Given the description of an element on the screen output the (x, y) to click on. 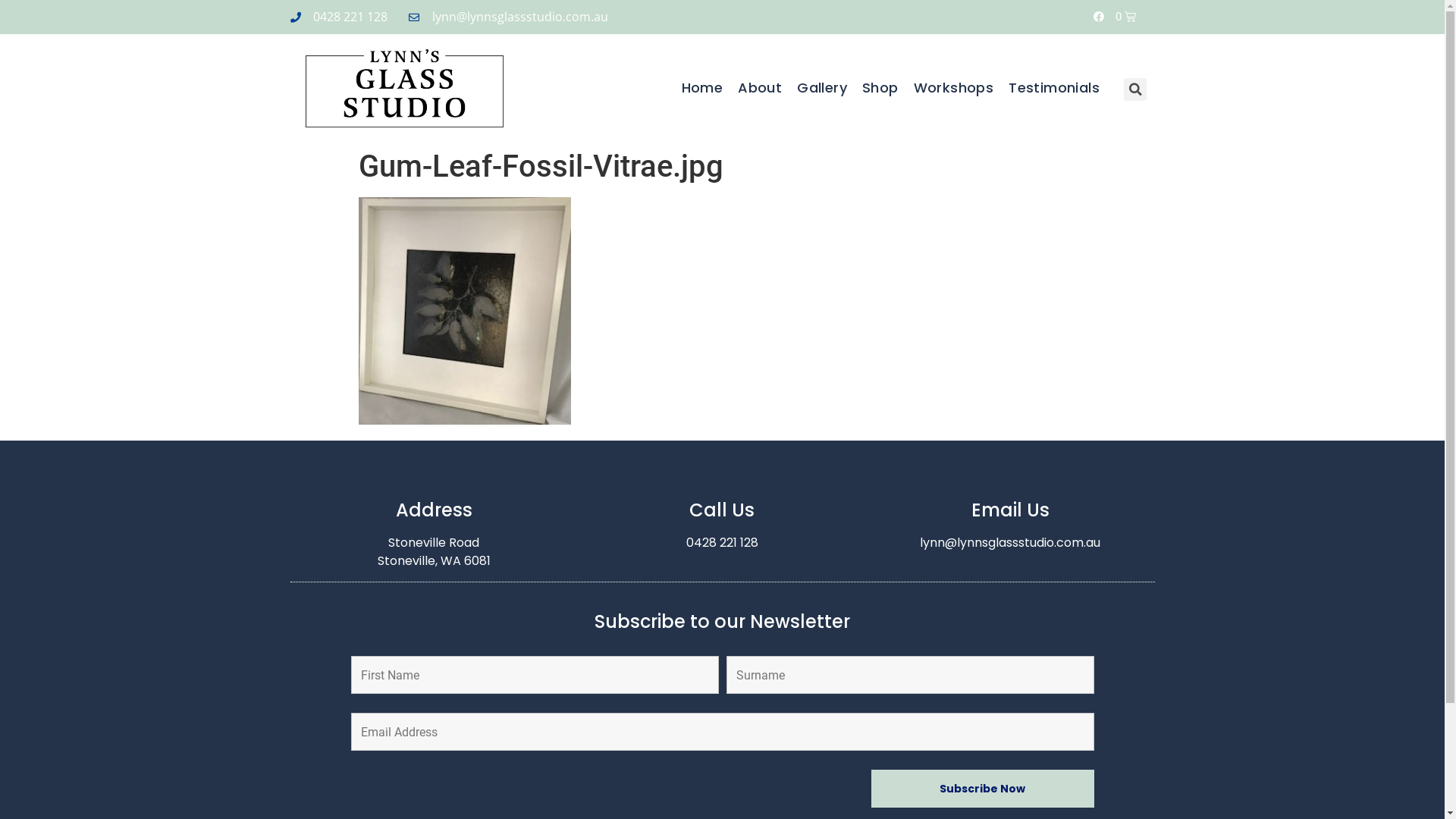
Workshops Element type: text (953, 87)
0428 221 128 Element type: text (722, 542)
0428 221 128 Element type: text (338, 16)
Shop Element type: text (880, 87)
Testimonials Element type: text (1054, 87)
About Element type: text (759, 87)
lynn@lynnsglassstudio.com.au Element type: text (1009, 542)
lynn@lynnsglassstudio.com.au Element type: text (508, 16)
Home Element type: text (702, 87)
Gallery Element type: text (821, 87)
